Given the description of an element on the screen output the (x, y) to click on. 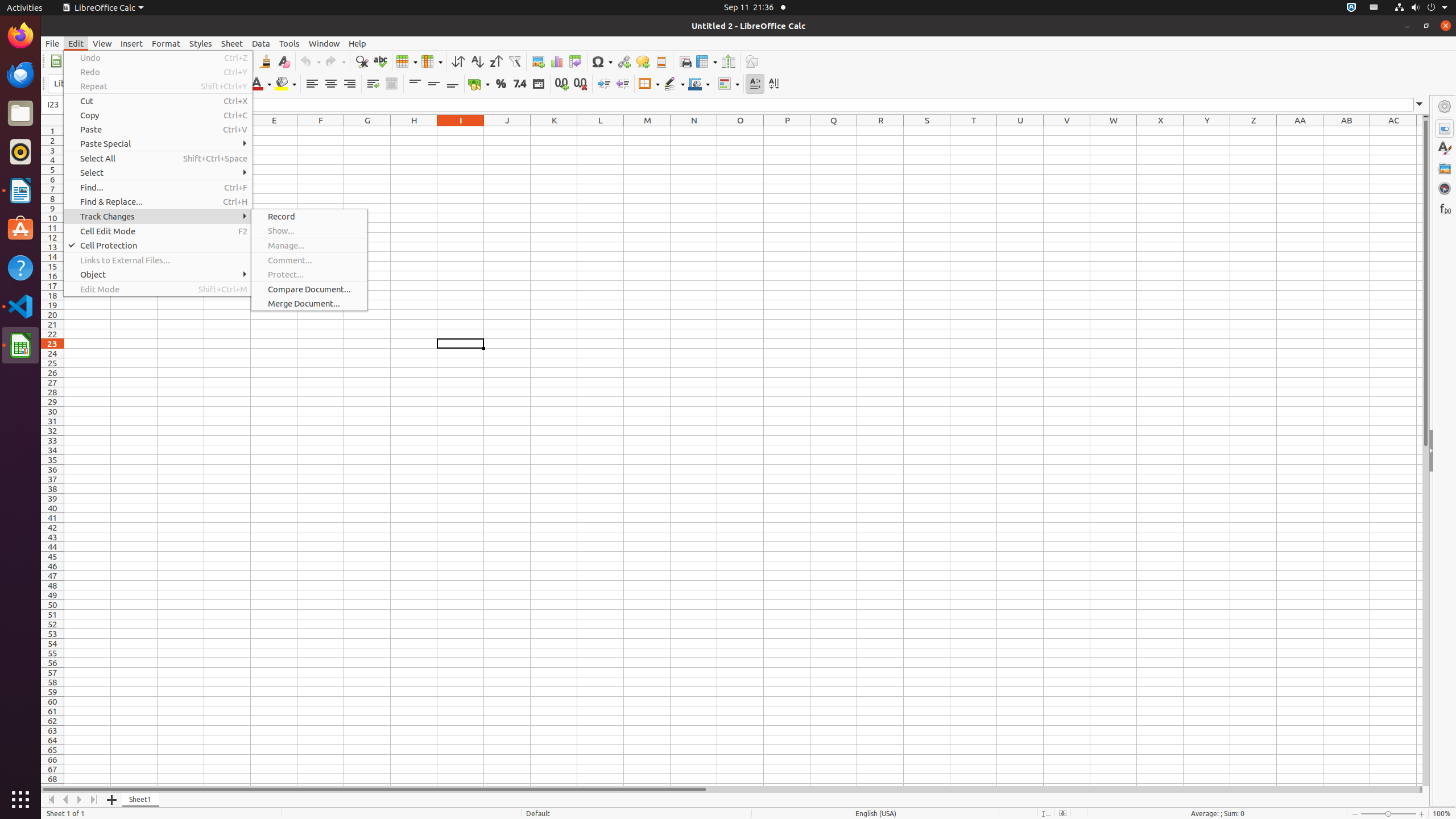
Percent Element type: push-button (500, 83)
Sort Element type: push-button (457, 61)
G1 Element type: table-cell (367, 130)
I1 Element type: table-cell (460, 130)
Q1 Element type: table-cell (833, 130)
